Given the description of an element on the screen output the (x, y) to click on. 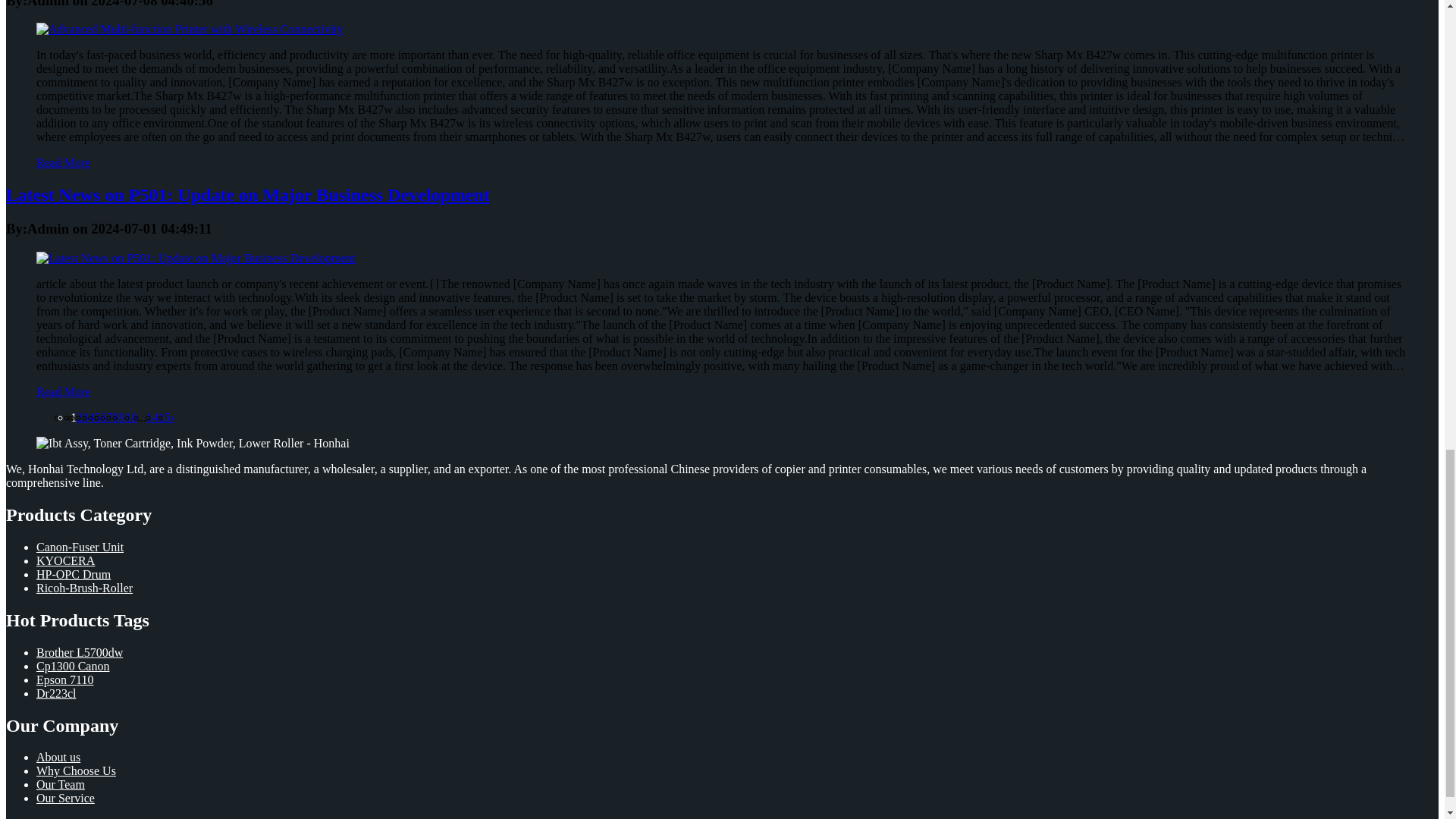
Read More (63, 162)
